Given the description of an element on the screen output the (x, y) to click on. 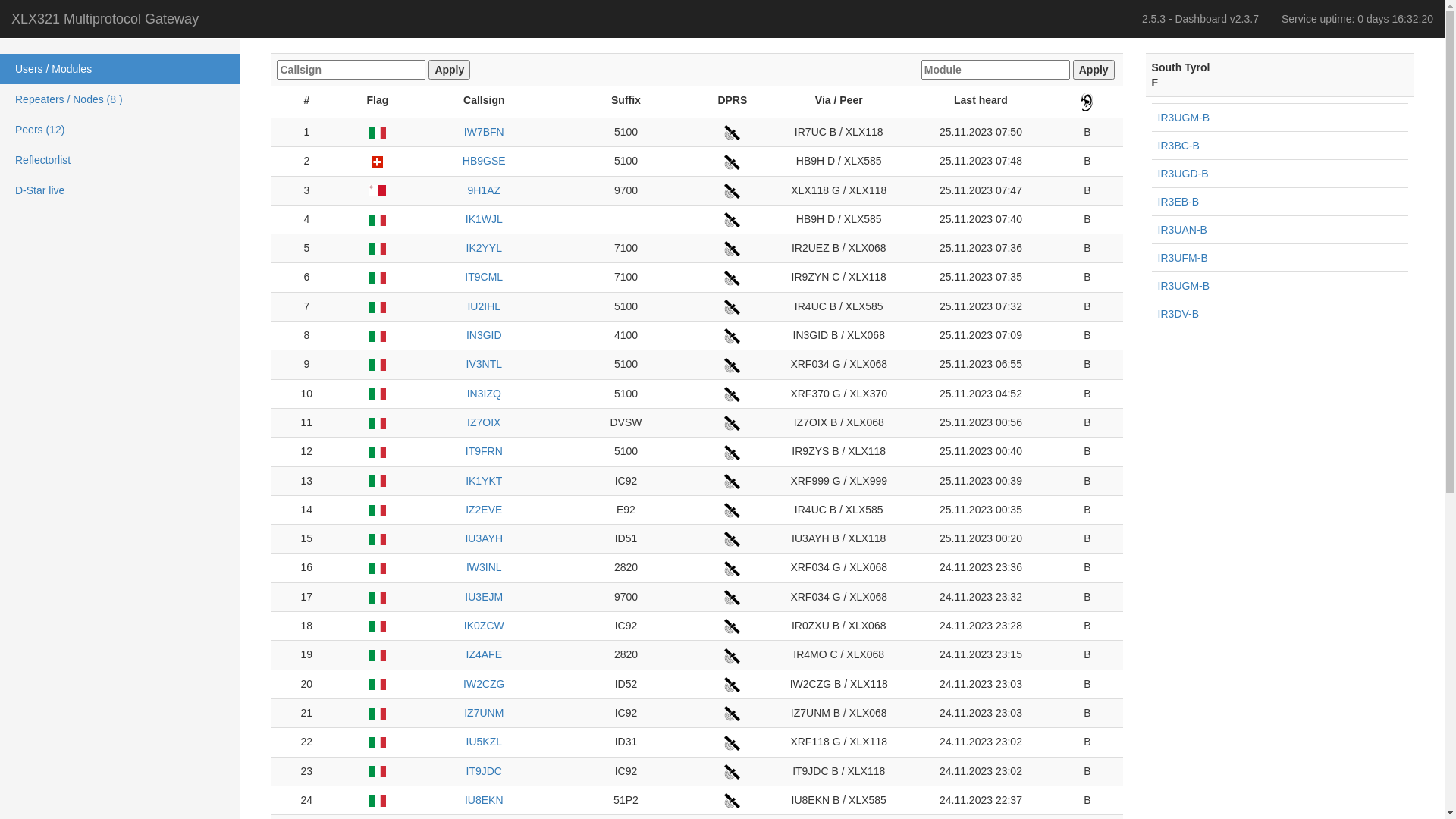
IZ7OIX Element type: text (483, 423)
IZ4AFE Element type: text (484, 655)
IT9FRN Element type: text (483, 452)
Apply Element type: text (449, 69)
IW3INL Element type: text (484, 568)
IN3GID Element type: text (484, 336)
Repeaters / Nodes (8 ) Element type: text (120, 99)
D-Star live Element type: text (120, 190)
Users / Modules Element type: text (120, 68)
Peers (12) Element type: text (120, 129)
IU2IHL Element type: text (483, 307)
IN3IZQ Element type: text (484, 394)
Apply Element type: text (1093, 69)
IU3AYH Element type: text (483, 539)
IU5KZL Element type: text (484, 743)
IK1YKT Element type: text (483, 481)
IT9CML Element type: text (483, 278)
IT9JDC Element type: text (484, 771)
Reflectorlist Element type: text (120, 159)
IU3EJM Element type: text (483, 597)
IZ2EVE Element type: text (483, 511)
HB9GSE Element type: text (483, 162)
IK1WJL Element type: text (483, 220)
IK0ZCW Element type: text (484, 627)
IZ7UNM Element type: text (483, 714)
IW2CZG Element type: text (483, 684)
IK2YYL Element type: text (484, 249)
IW7BFN Element type: text (484, 131)
IV3NTL Element type: text (484, 365)
9H1AZ Element type: text (483, 191)
IU8EKN Element type: text (483, 801)
